Given the description of an element on the screen output the (x, y) to click on. 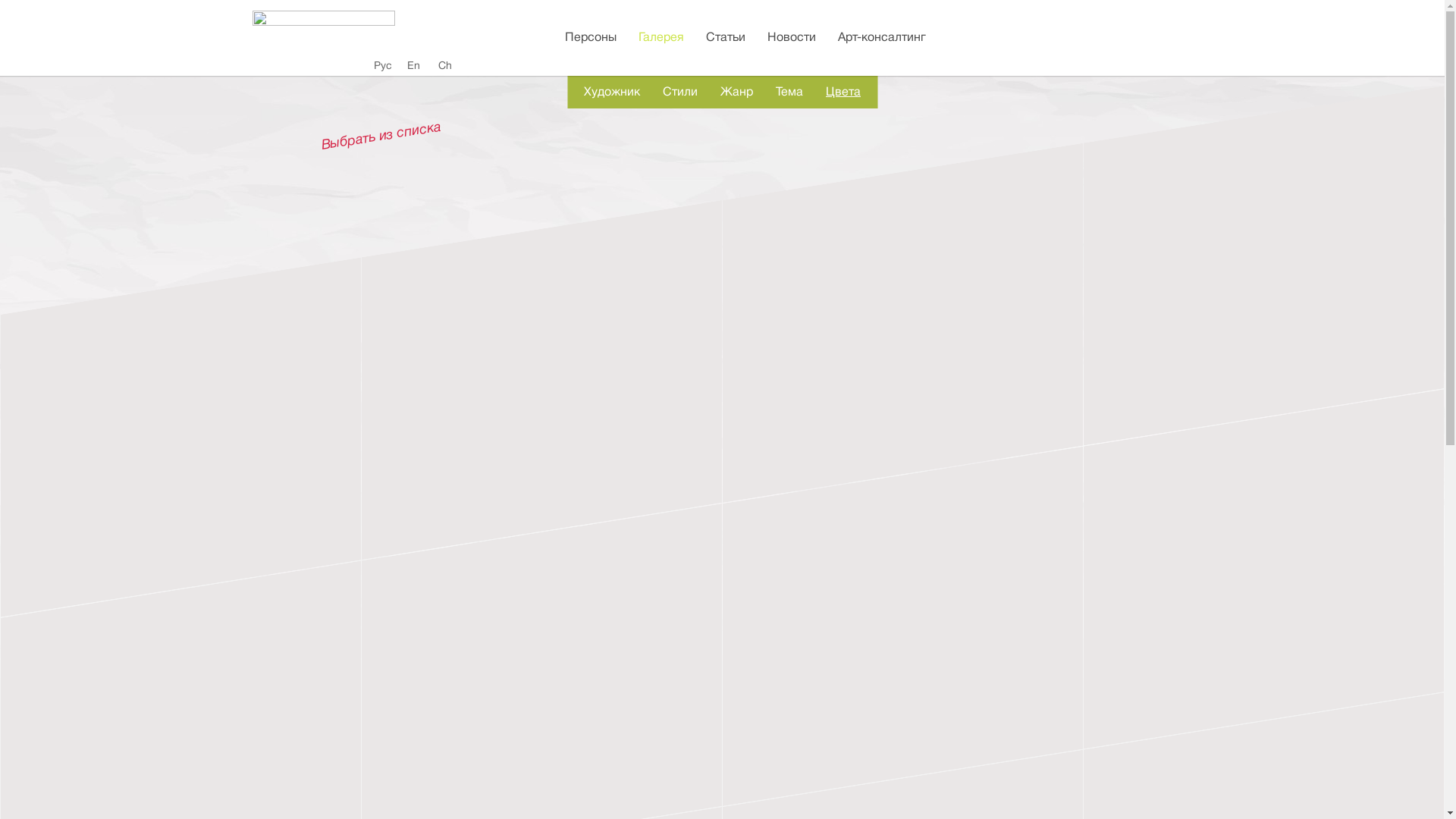
Ch Element type: text (445, 65)
En Element type: text (413, 65)
